Given the description of an element on the screen output the (x, y) to click on. 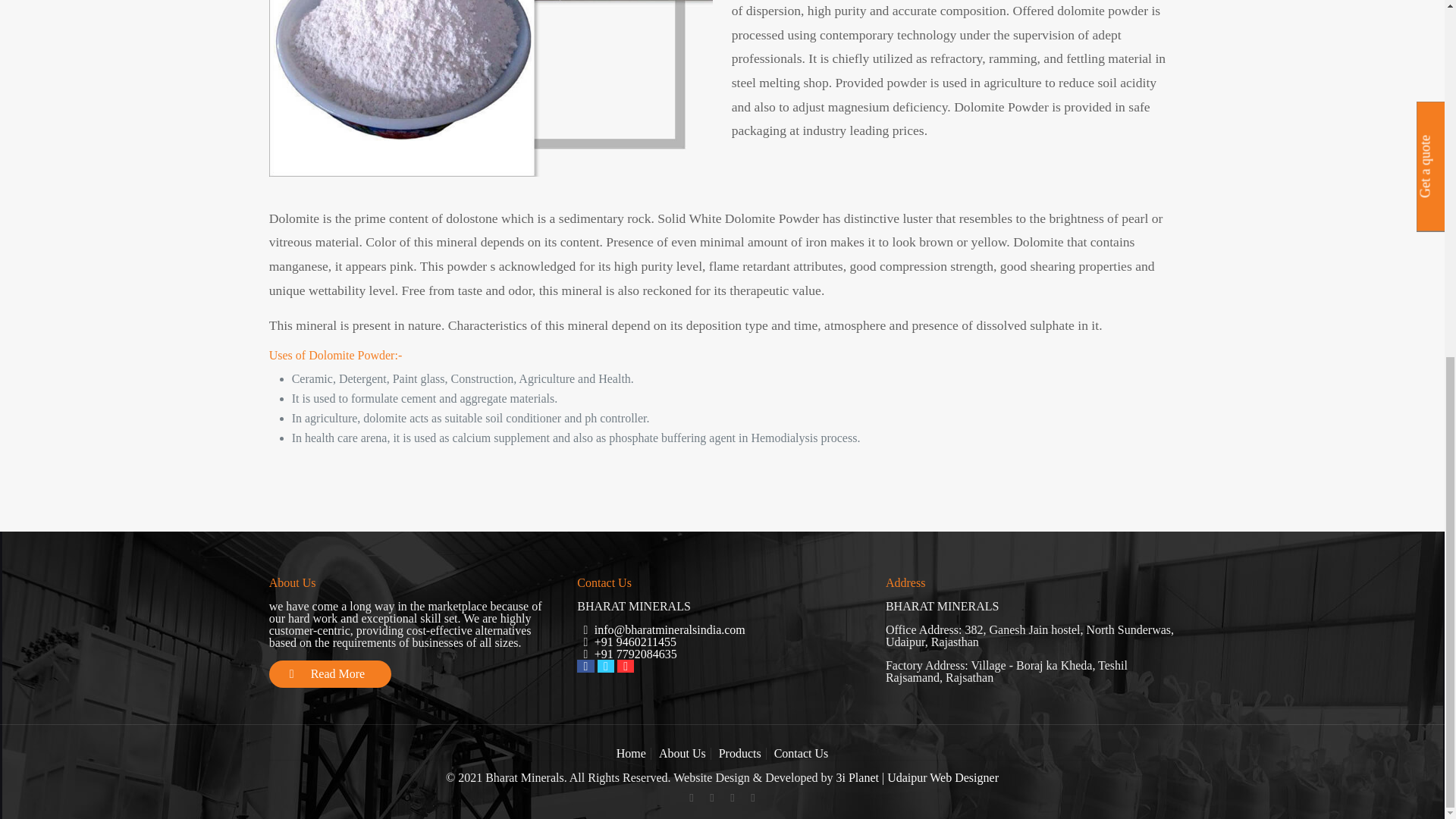
Contact Us (801, 753)
Facebook (690, 797)
Products (740, 753)
YouTube (711, 797)
Read More (330, 673)
About Us (682, 753)
Home (630, 753)
Instagram (752, 797)
LinkedIn (731, 797)
